Given the description of an element on the screen output the (x, y) to click on. 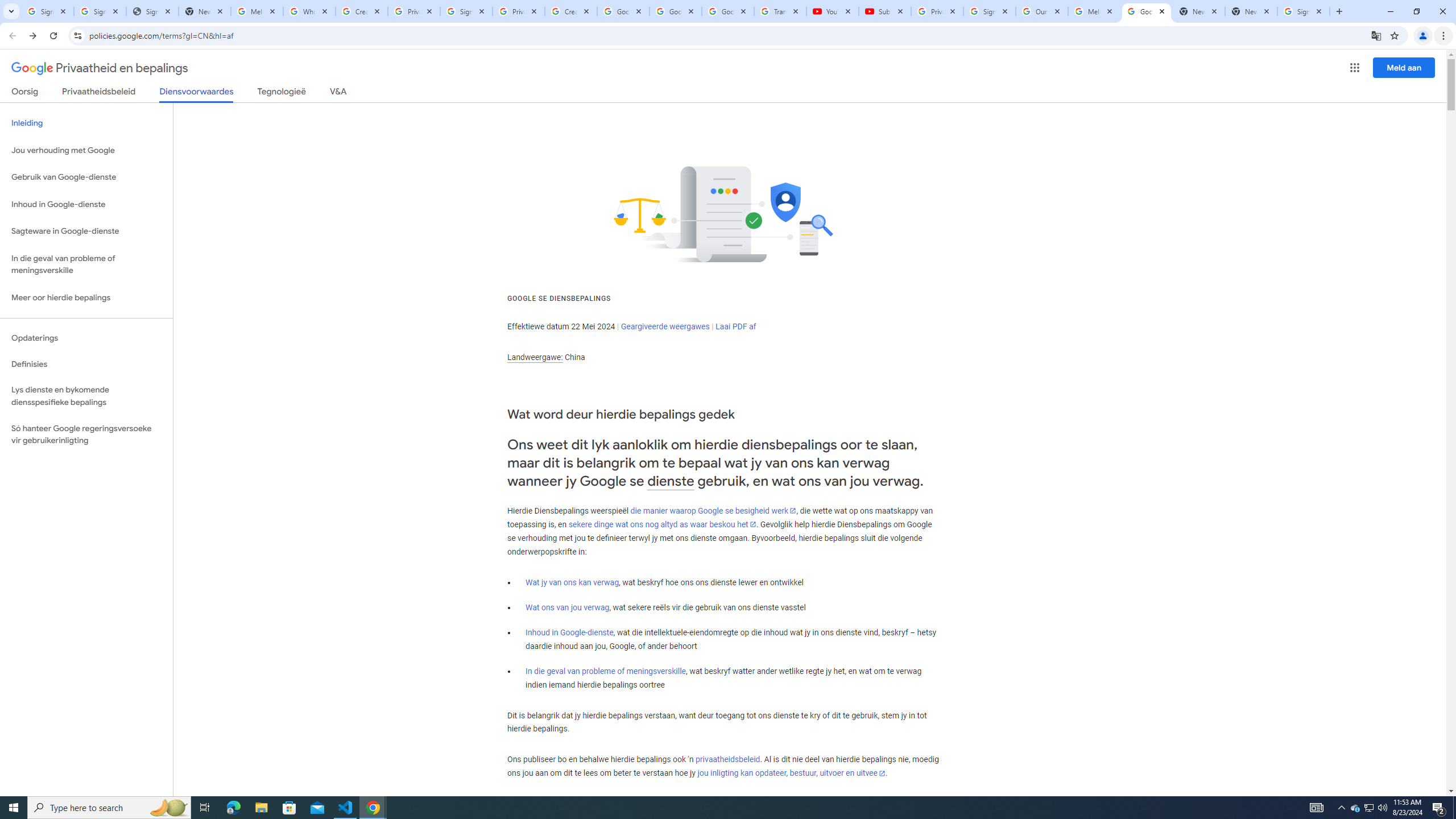
Sign in - Google Accounts (1303, 11)
Sign in - Google Accounts (466, 11)
New Tab (1251, 11)
Definisies (86, 363)
privaatheidsbeleid (727, 759)
